Given the description of an element on the screen output the (x, y) to click on. 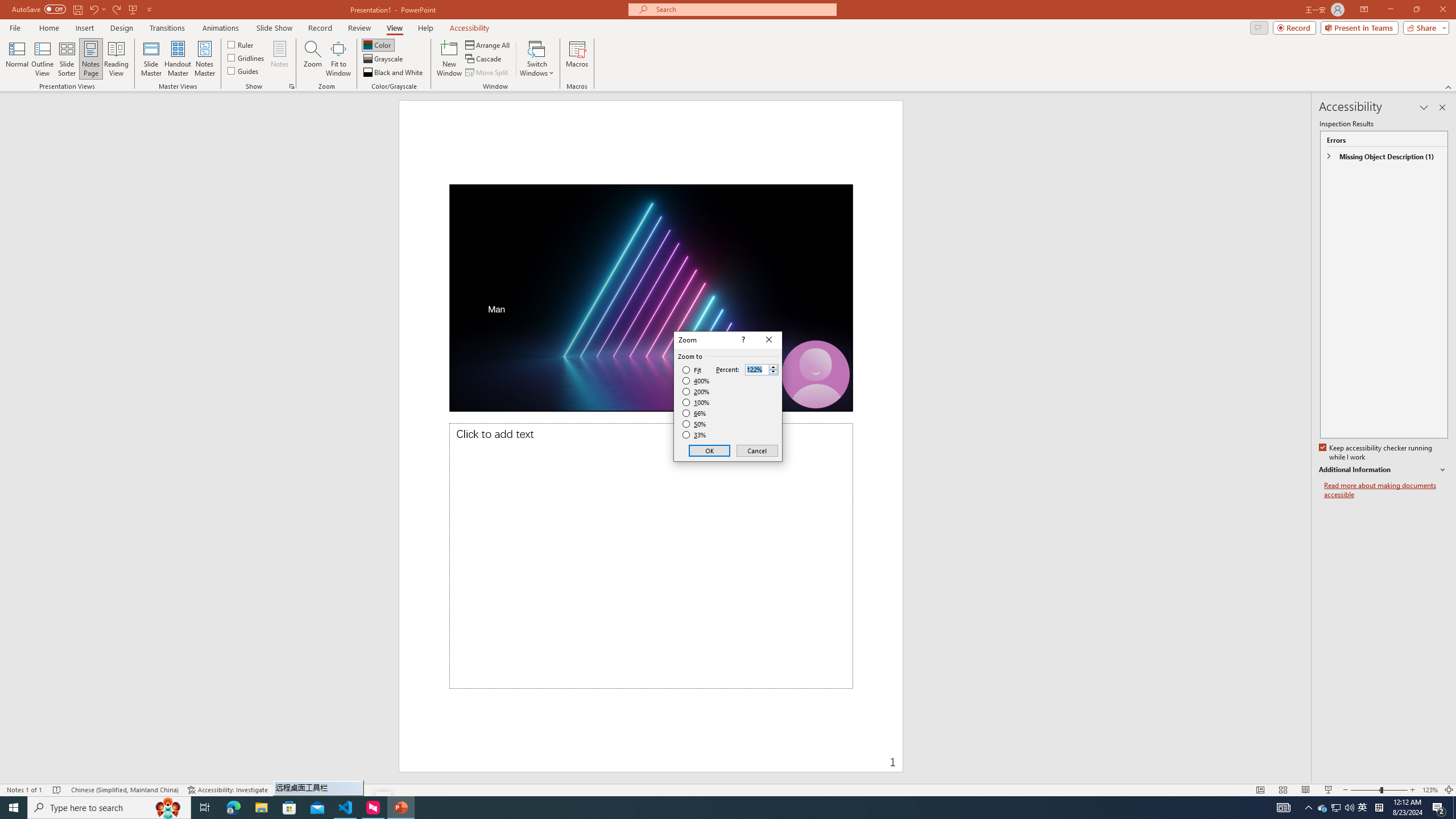
400% (696, 380)
Fit to Window (338, 58)
50% (694, 424)
Notes (279, 58)
Gridlines (246, 56)
Macros (576, 58)
